Given the description of an element on the screen output the (x, y) to click on. 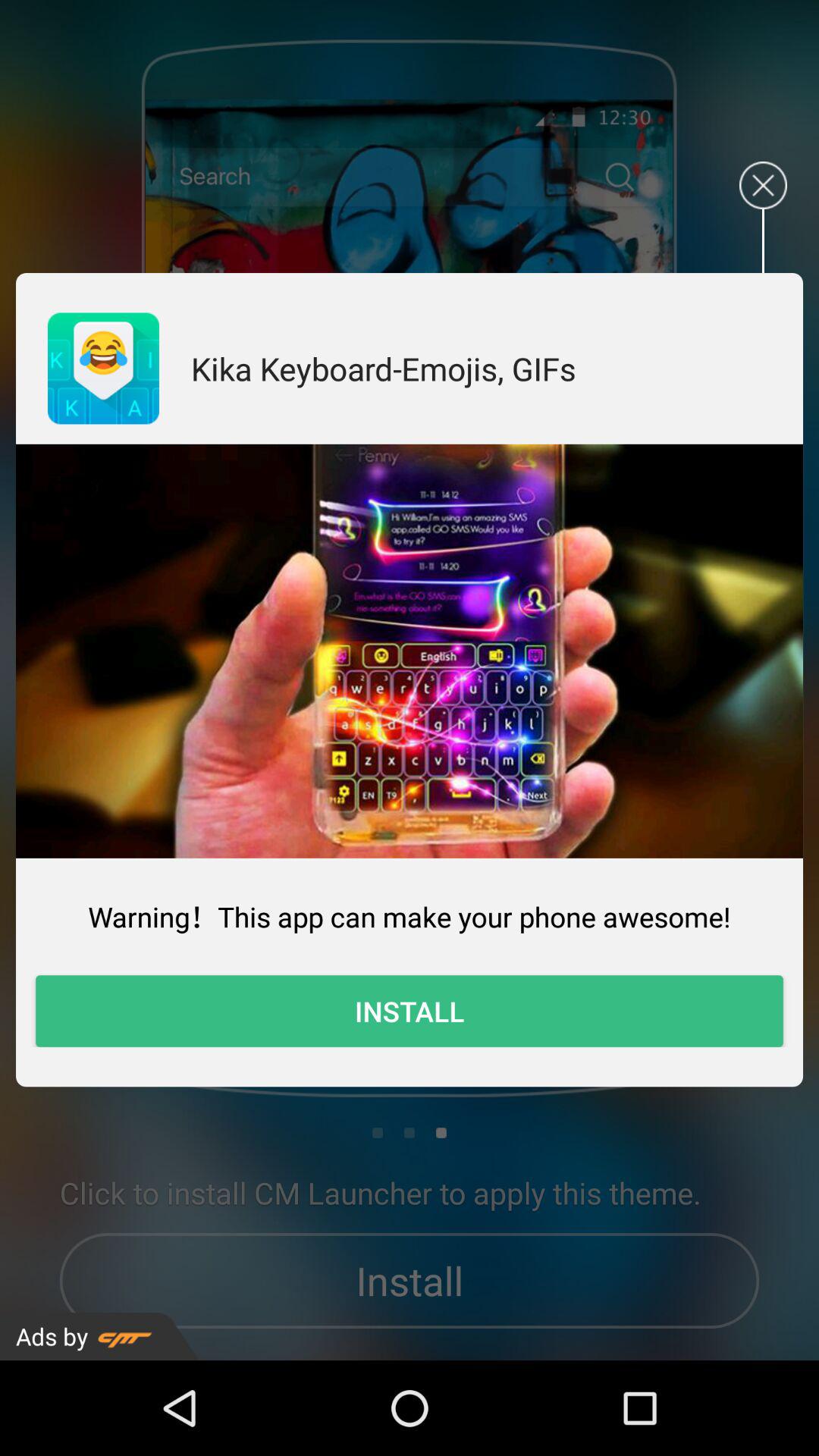
turn on the item below the warning this app item (409, 1011)
